Given the description of an element on the screen output the (x, y) to click on. 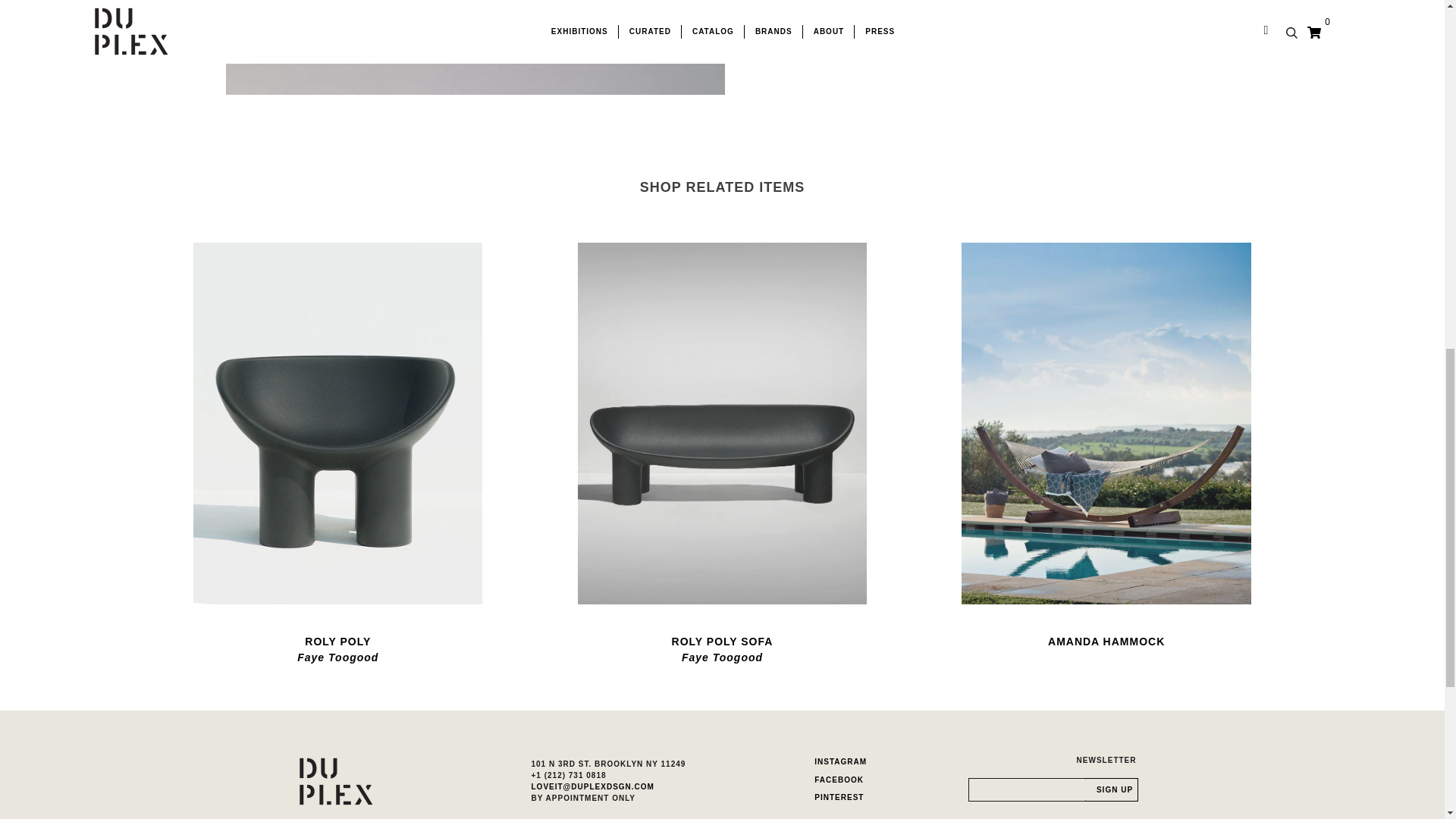
Sign up (337, 640)
